Given the description of an element on the screen output the (x, y) to click on. 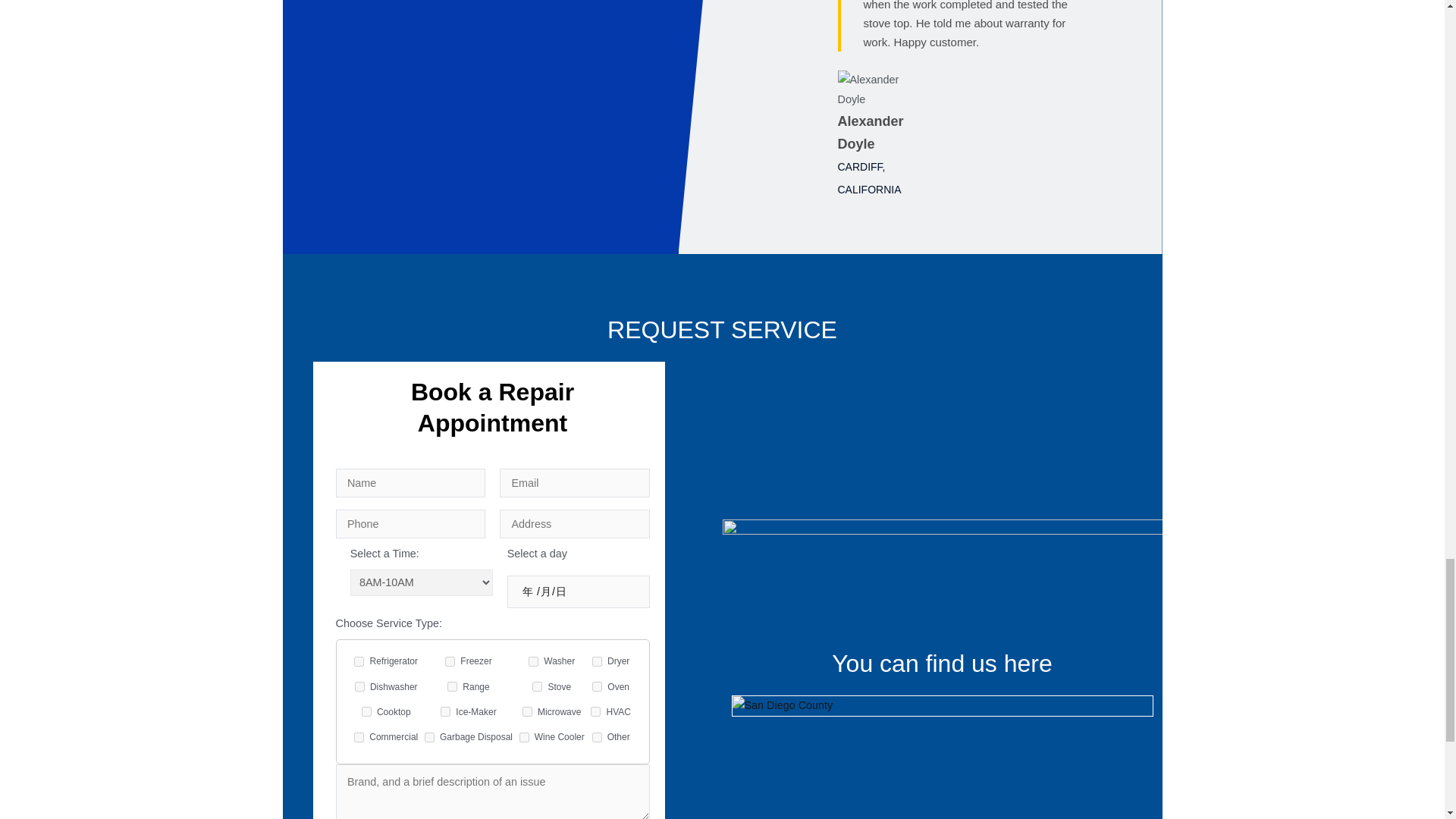
Oven (597, 686)
Stove (536, 686)
Ice-Maker (445, 711)
Washer (533, 661)
Freezer (449, 661)
HVAC (595, 711)
Range (451, 686)
Cooktop (366, 711)
Commercial (358, 737)
Microwave (527, 711)
Dryer (597, 661)
Wine Cooler (524, 737)
Dishwasher (360, 686)
Refrigerator (358, 661)
Garbage Disposal (429, 737)
